Given the description of an element on the screen output the (x, y) to click on. 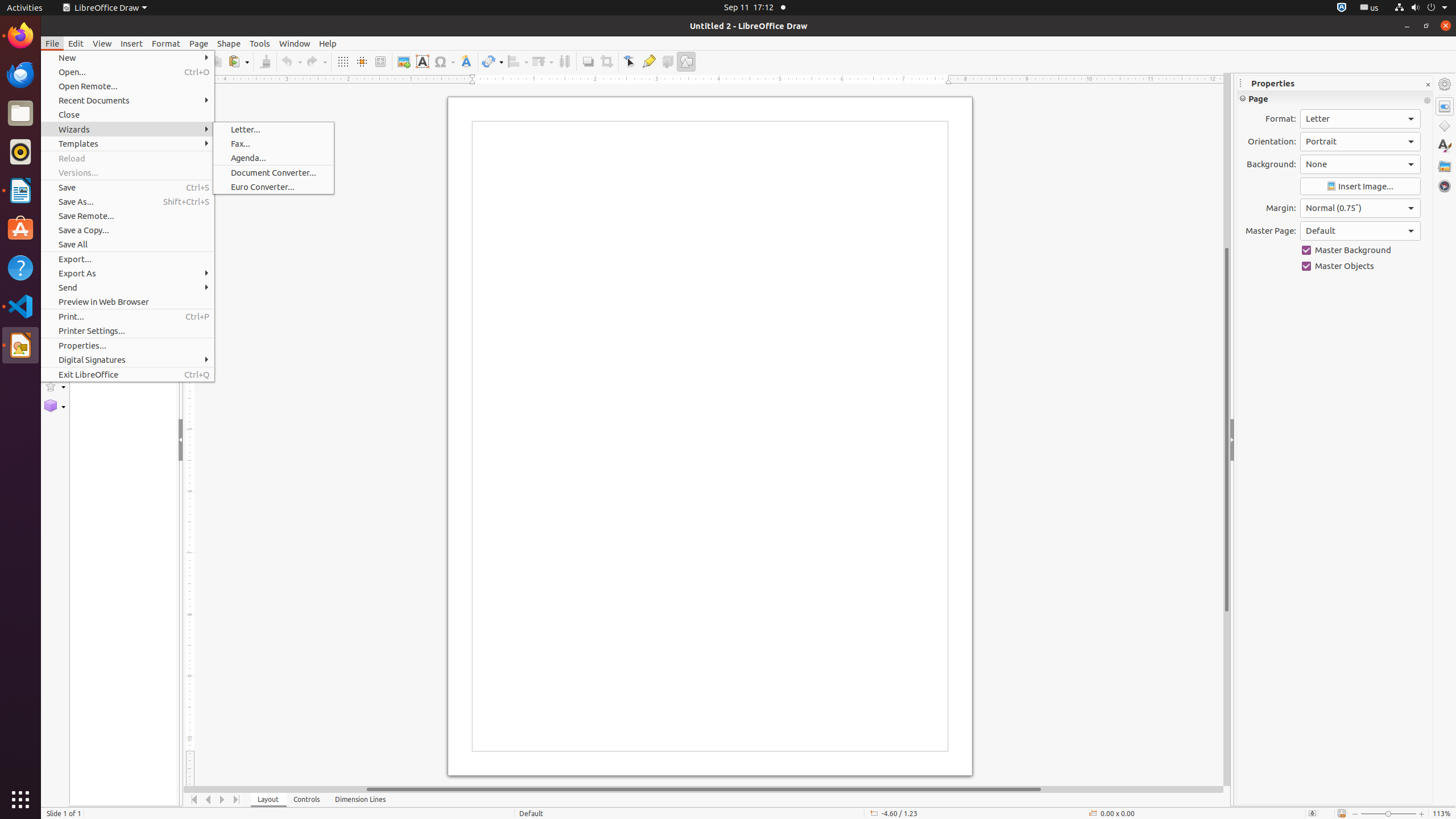
Clone Element type: push-button (264, 61)
Window Element type: menu (294, 43)
Controls Element type: page-tab (307, 799)
3D Objects Element type: push-button (54, 406)
Master Objects Element type: check-box (1360, 265)
